Given the description of an element on the screen output the (x, y) to click on. 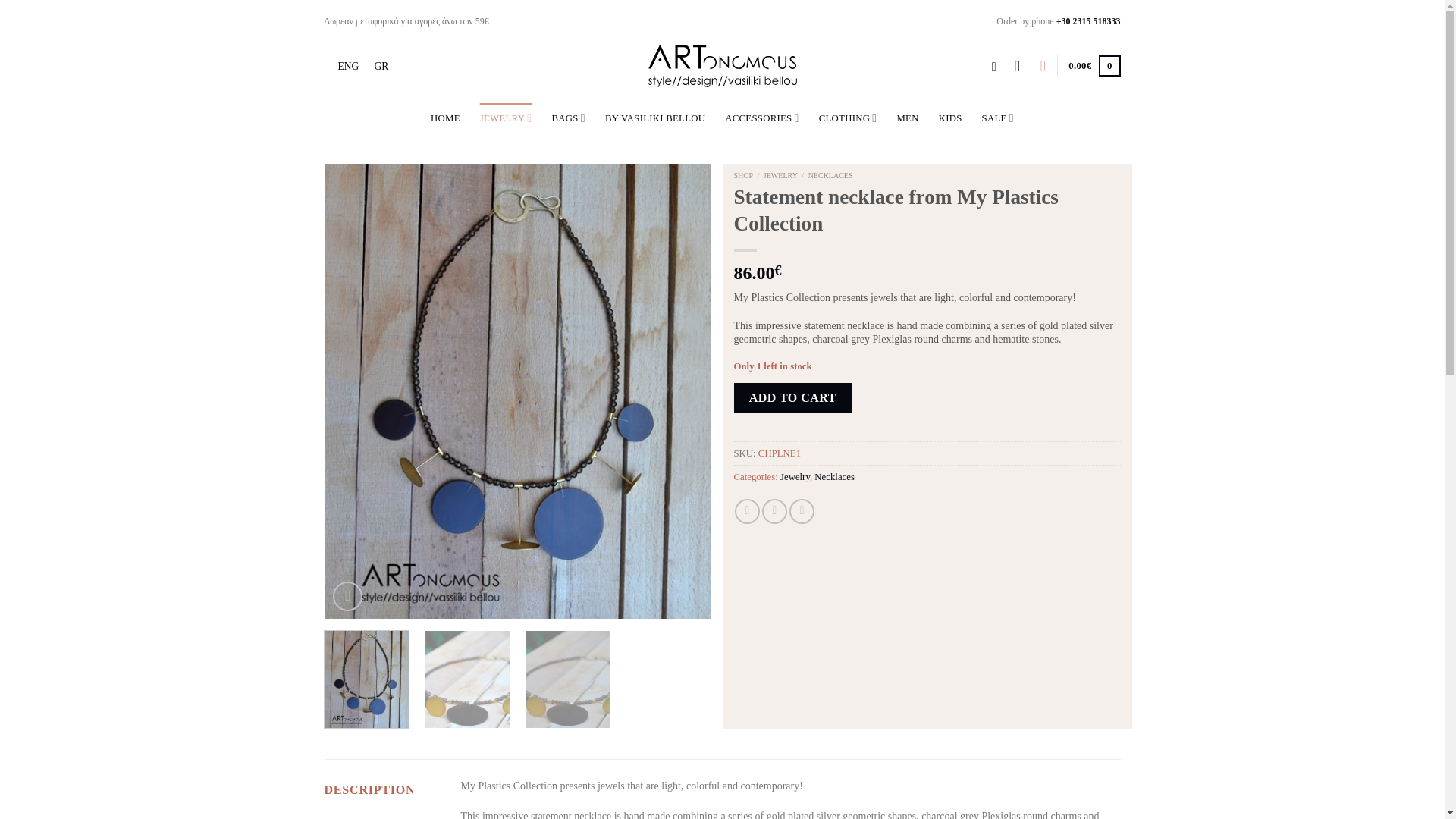
Pin on Pinterest (801, 511)
ARTonomous (1089, 20)
ACCESSORIES (761, 117)
GR (381, 66)
HOME (445, 117)
ENG (348, 66)
JEWELRY (506, 117)
BY VASILIKI BELLOU (654, 117)
Share on Twitter (774, 511)
SALE (997, 117)
